Given the description of an element on the screen output the (x, y) to click on. 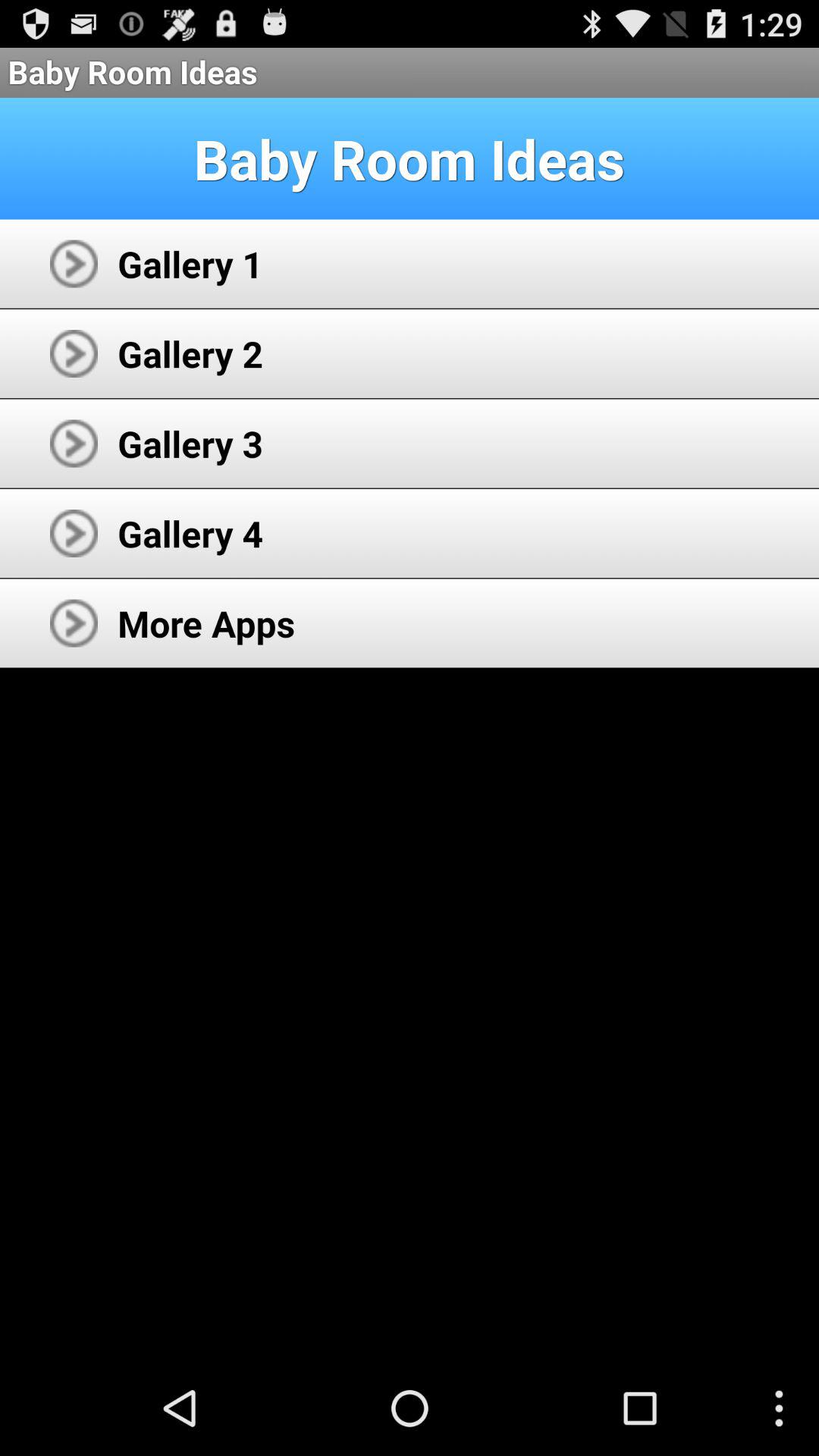
tap app above gallery 4 (190, 443)
